Given the description of an element on the screen output the (x, y) to click on. 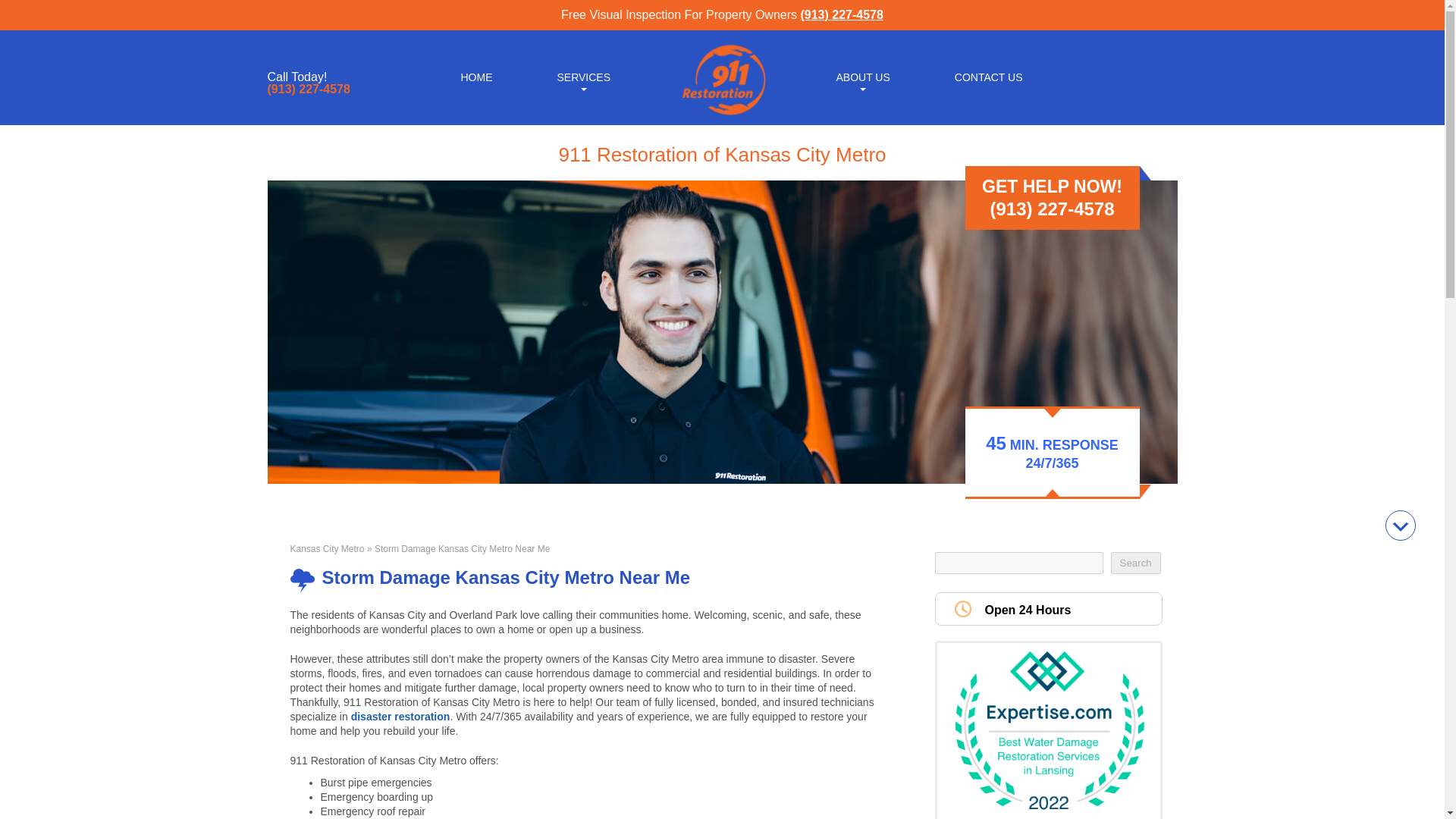
CONTACT US (988, 76)
SERVICES (582, 76)
Search (1134, 563)
911 Water Damage Restoration Logo (721, 115)
HOME (476, 76)
Scroll to Down (1400, 525)
Go to Kansas City Metro. (326, 548)
ABOUT US (862, 76)
